Given the description of an element on the screen output the (x, y) to click on. 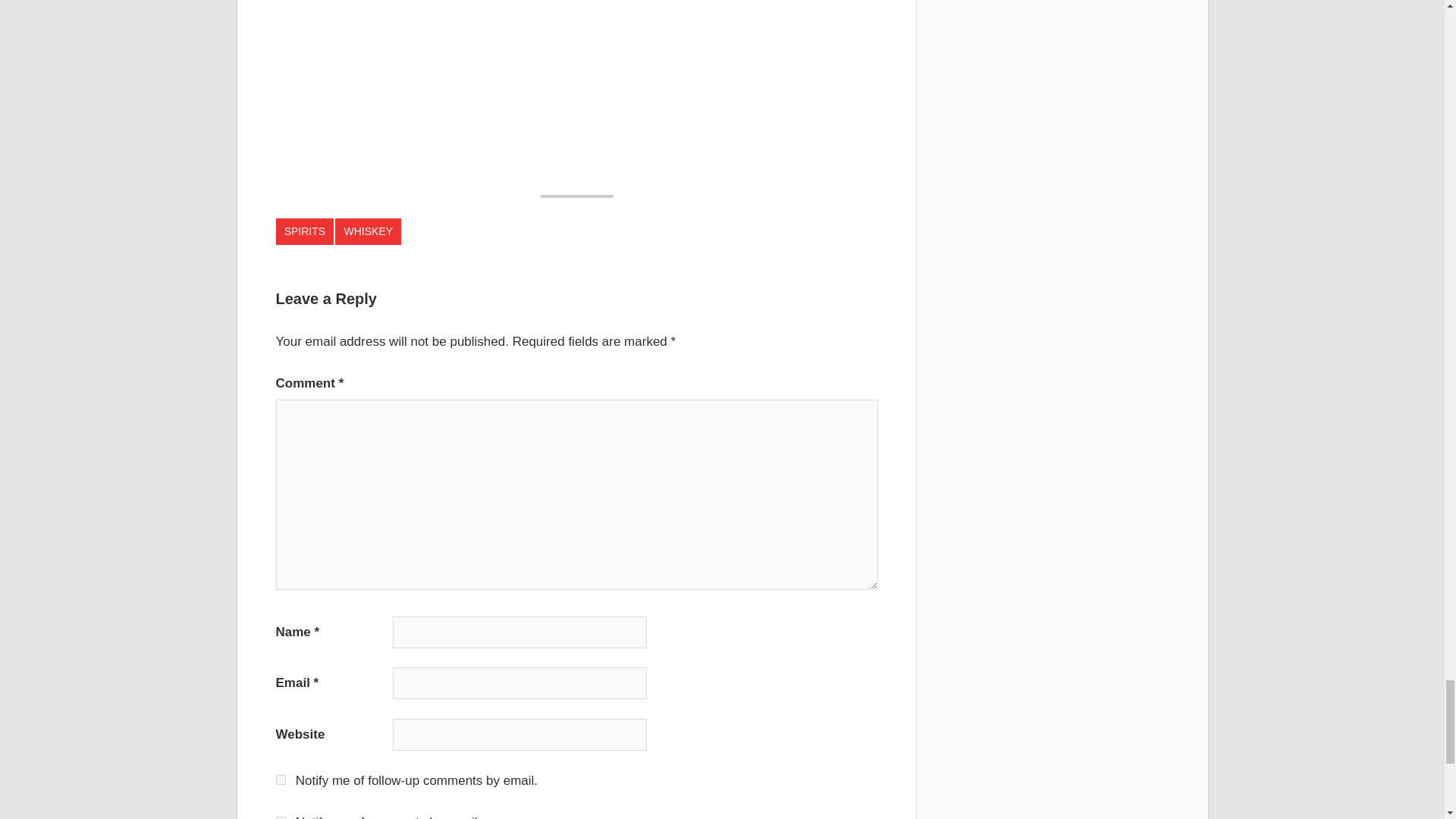
subscribe (280, 779)
WHISKEY (367, 231)
SPIRITS (305, 231)
